Given the description of an element on the screen output the (x, y) to click on. 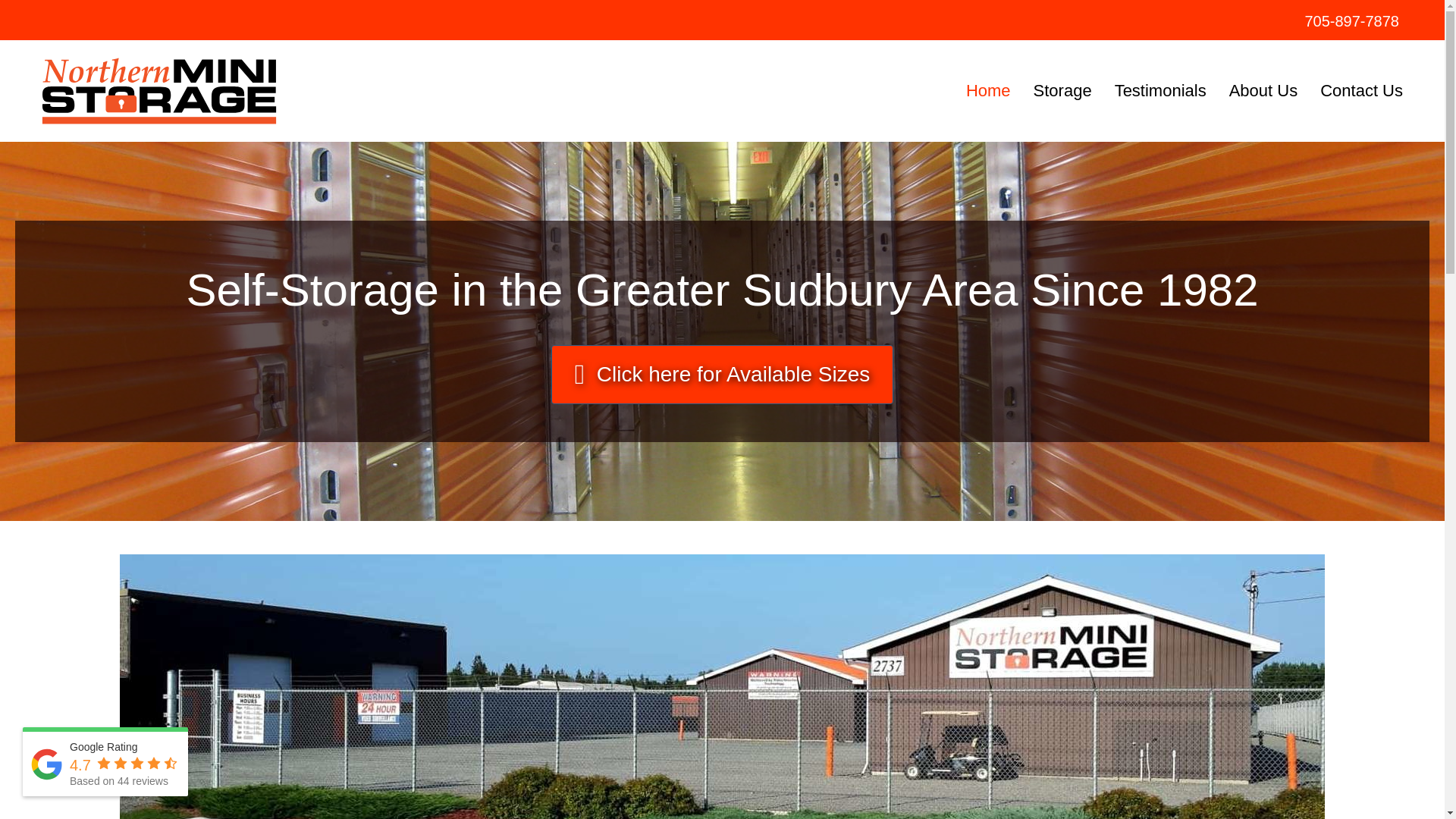
About Us (1262, 90)
Contact Us (1360, 90)
705-897-7878 (1351, 21)
Testimonials (1160, 90)
Home (988, 90)
Storage (1062, 90)
Click here for Available Sizes (722, 374)
